Given the description of an element on the screen output the (x, y) to click on. 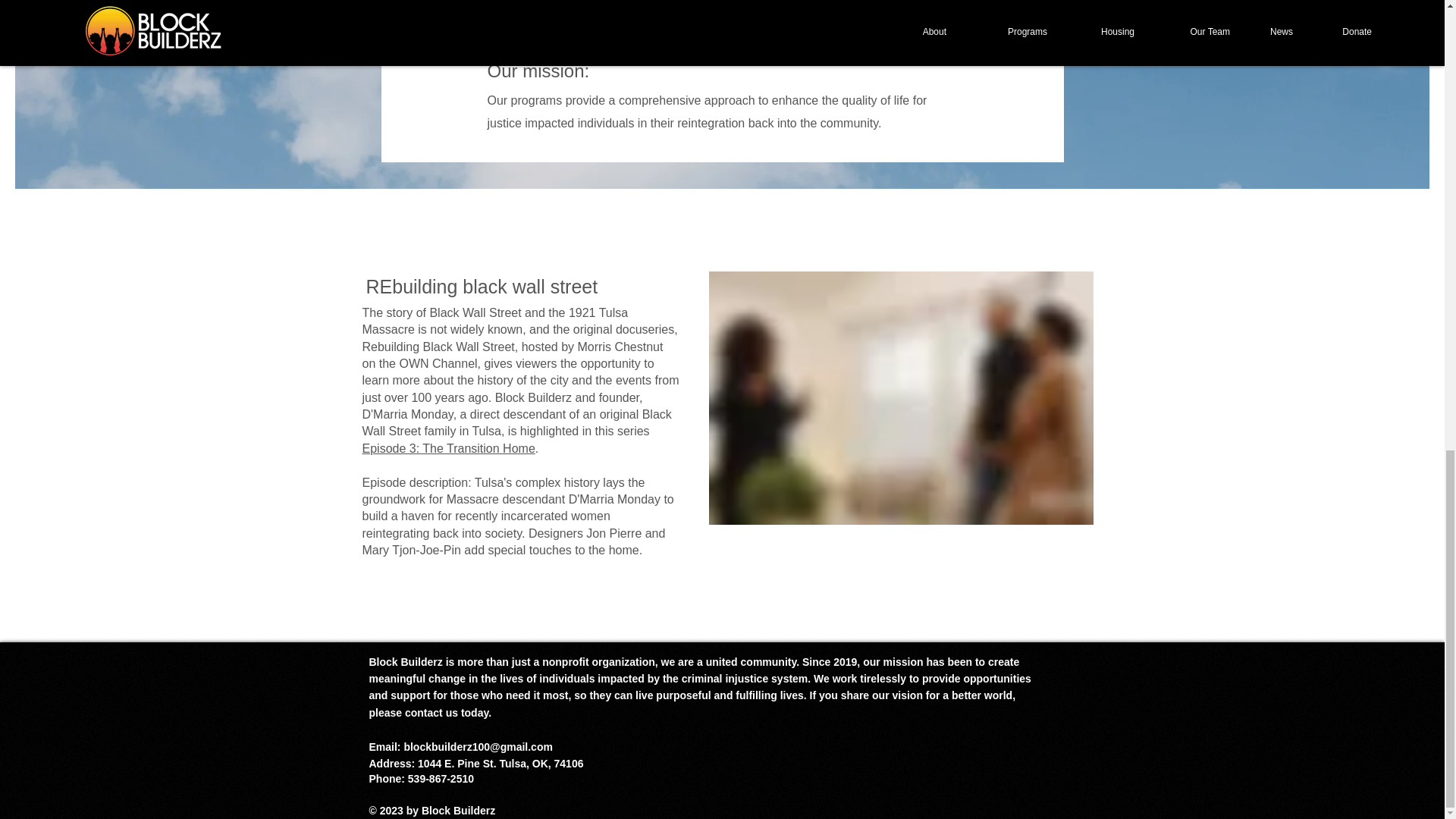
Episode 3: The Transition Home (448, 448)
